Given the description of an element on the screen output the (x, y) to click on. 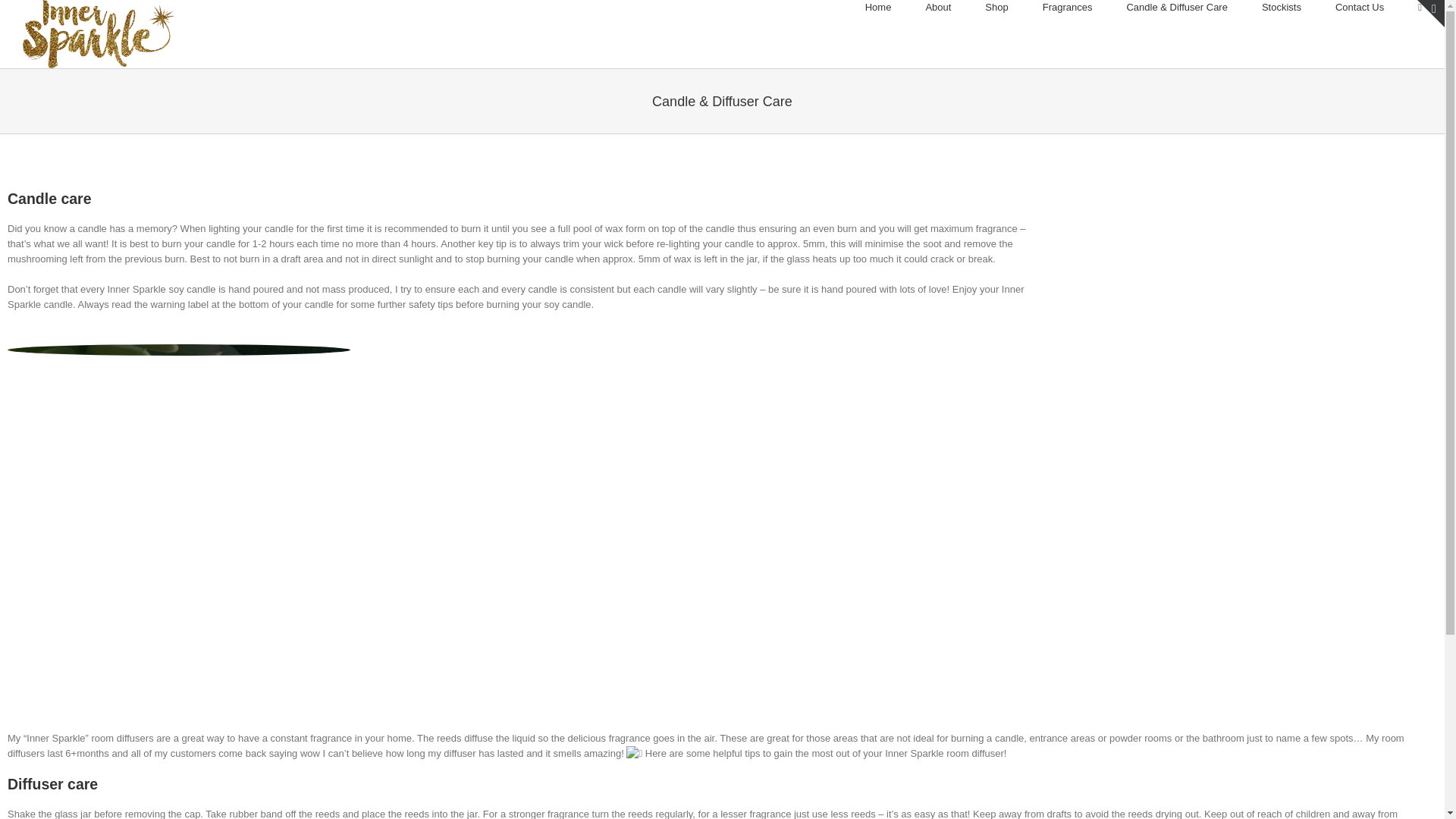
About Element type: text (937, 7)
Contact Us Element type: text (1359, 7)
Candle & Diffuser Care Element type: text (1176, 7)
Toggle Sliding Bar Area Element type: text (1430, 13)
Shop Element type: text (996, 7)
Home Element type: text (878, 7)
Fragrances Element type: text (1067, 7)
Stockists Element type: text (1281, 7)
trimmer Element type: hover (178, 513)
